Given the description of an element on the screen output the (x, y) to click on. 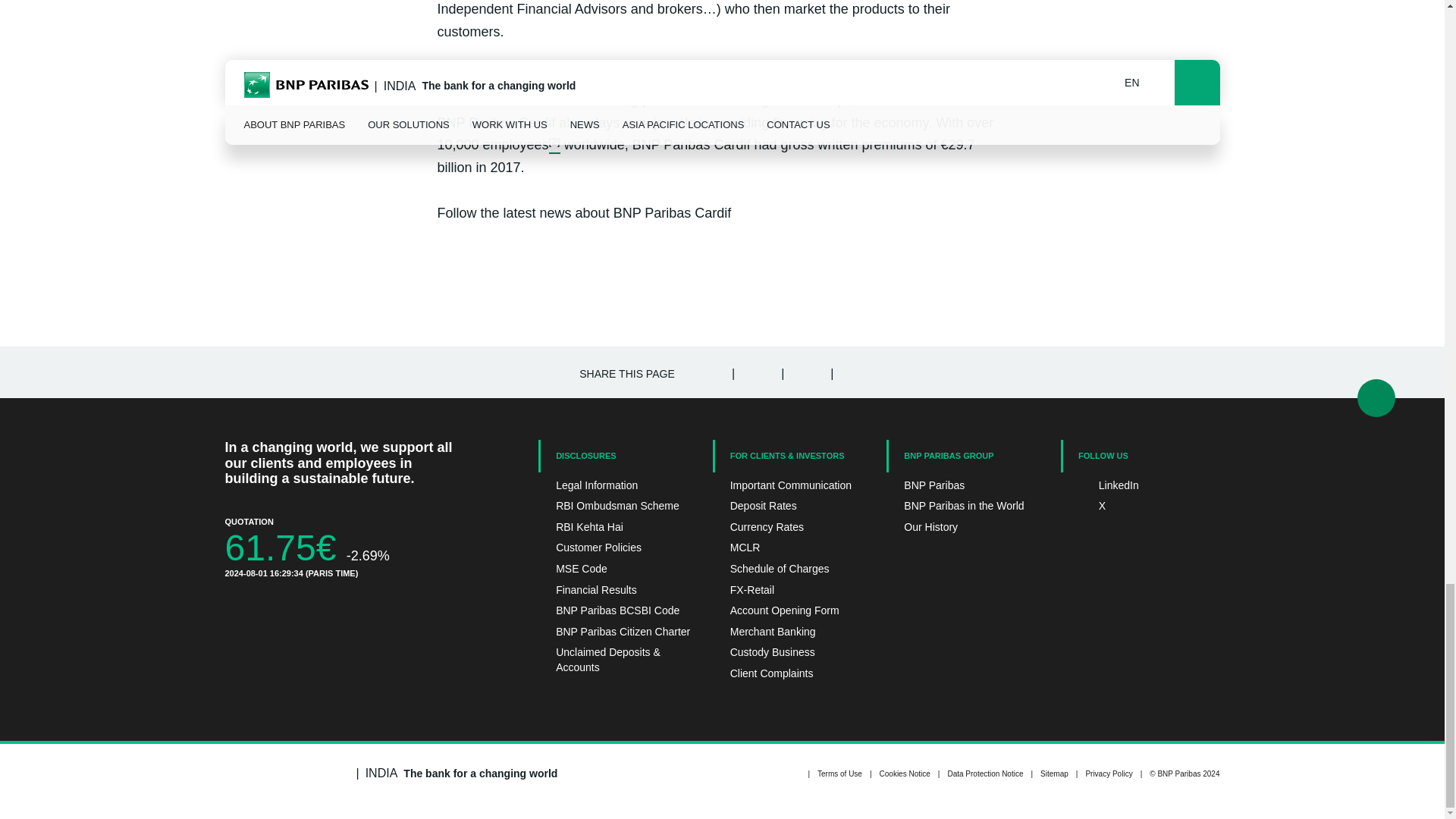
Client Complaints - New window (792, 673)
RBI Kehta Hai - New window (617, 527)
RBI Ombudsman Scheme - New window (617, 506)
Scroll back to top (1375, 397)
BNP Paribas Citizen Charter - New window (617, 631)
BNP Paribas BCSBI Code - New window (617, 611)
Share by email (853, 372)
MSE Code - New window (617, 569)
